Given the description of an element on the screen output the (x, y) to click on. 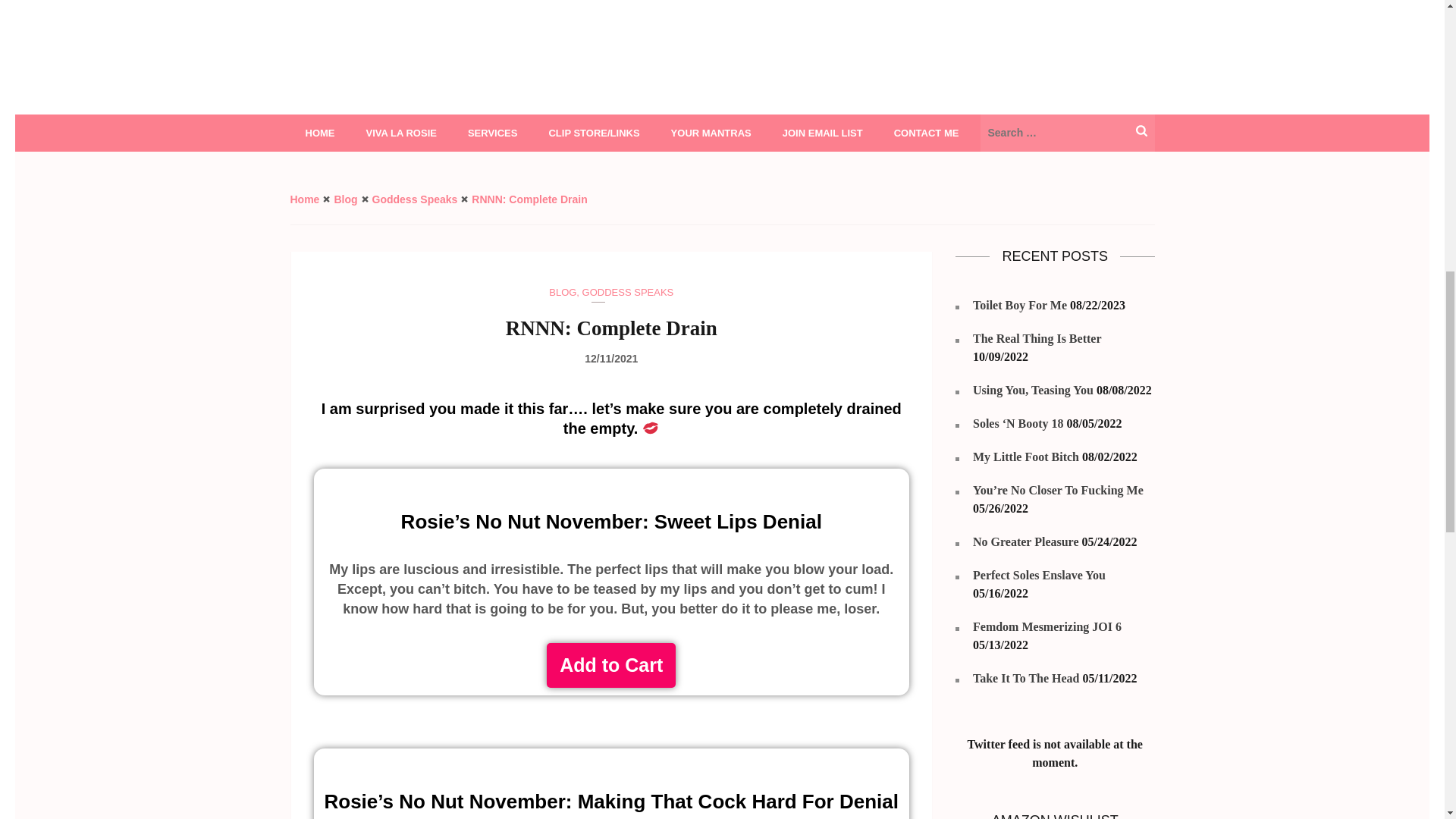
Search (1141, 130)
YOUR MANTRAS (711, 132)
SERVICES (492, 132)
JOIN EMAIL LIST (822, 132)
HOME (319, 132)
VIVA LA ROSIE (400, 132)
Goddess Rosie Reed (472, 115)
Search (1141, 130)
